Given the description of an element on the screen output the (x, y) to click on. 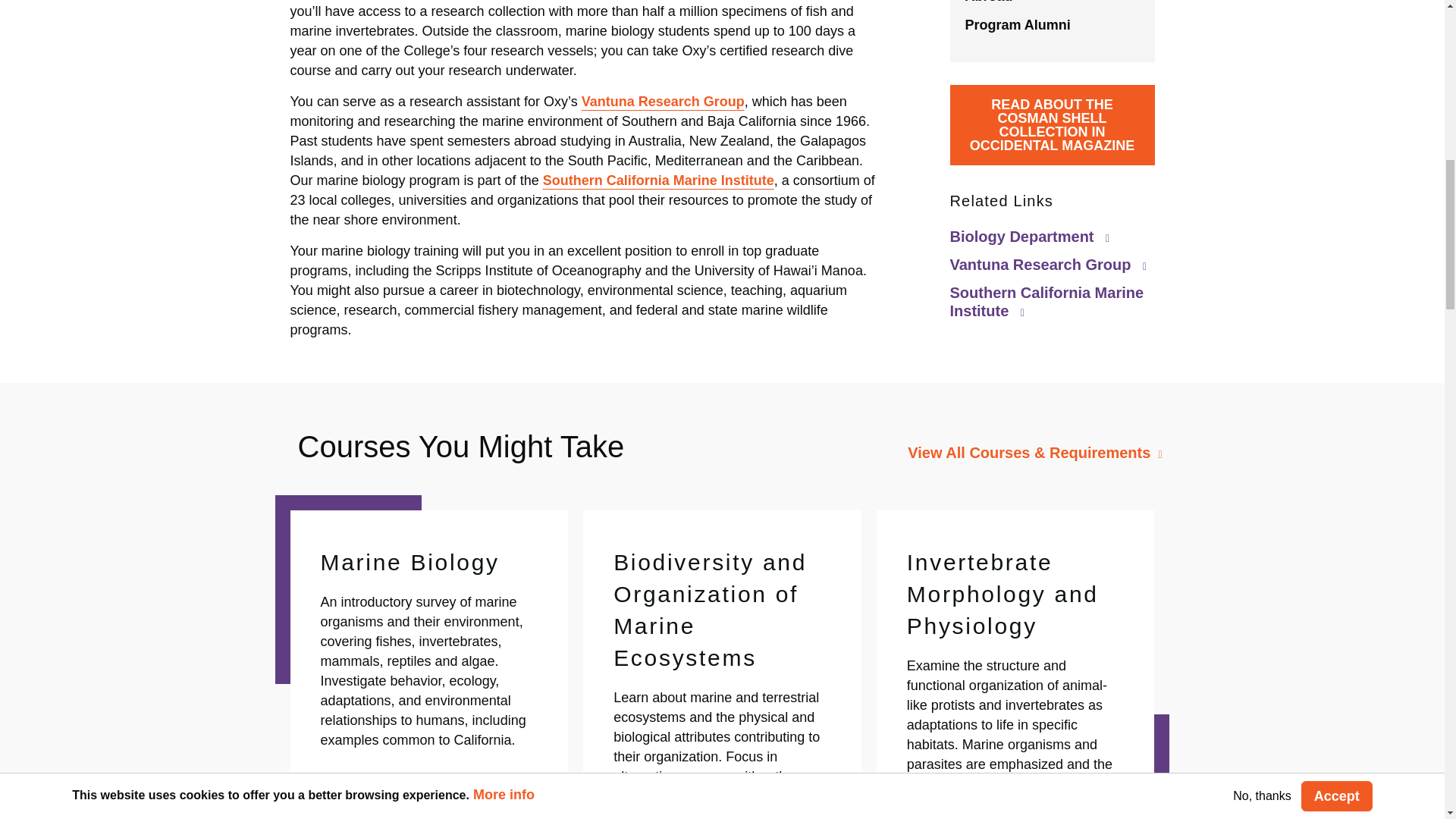
Vantuna Research Group (662, 101)
